Given the description of an element on the screen output the (x, y) to click on. 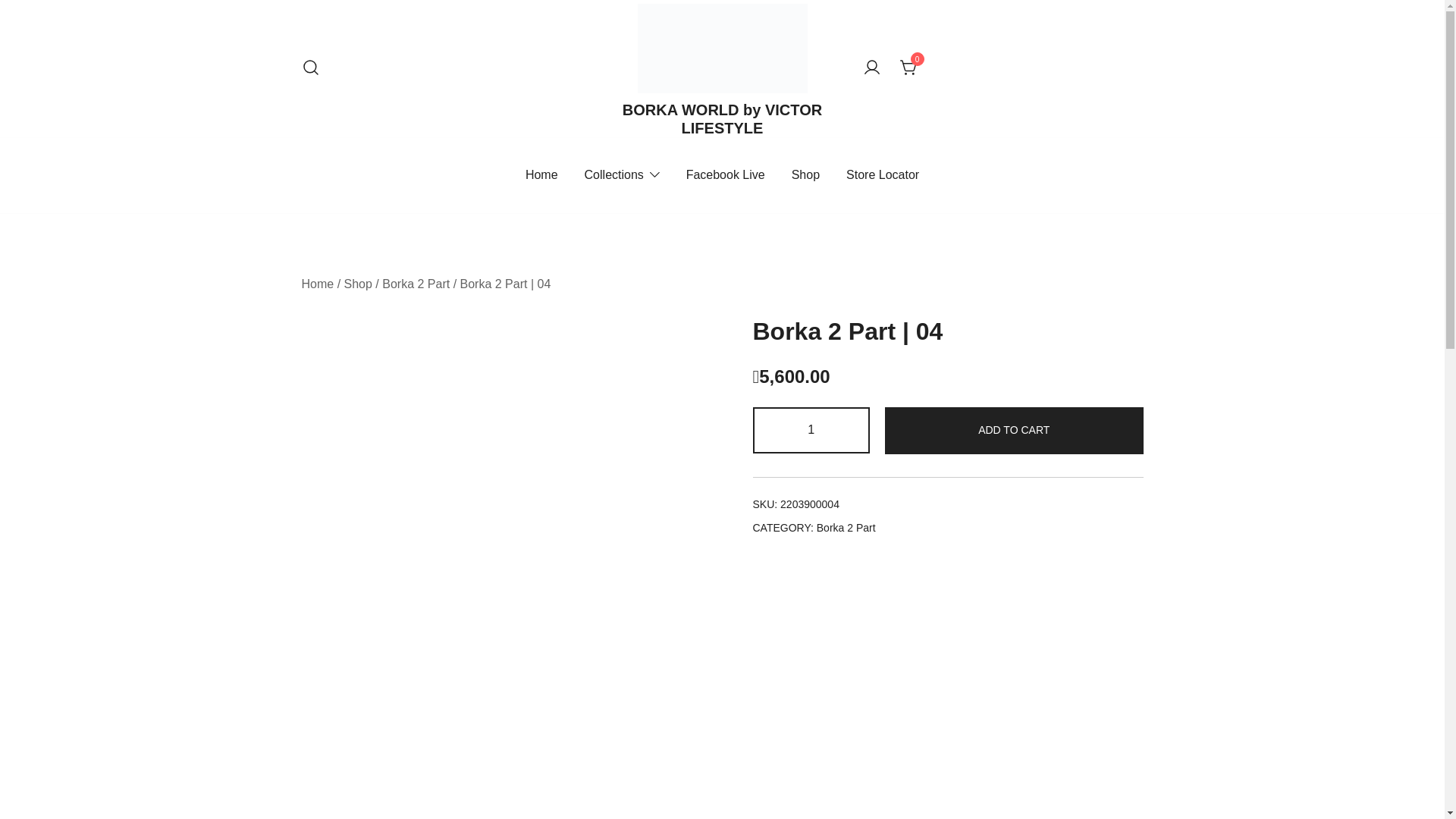
Collections Element type: text (613, 175)
Store Locator Element type: text (882, 175)
ADD TO CART Element type: text (1013, 430)
Shop Element type: text (358, 283)
Borka 2 Part Element type: text (415, 283)
Facebook Live Element type: text (725, 175)
Borka 2 Part Element type: text (845, 527)
0 Element type: text (908, 67)
Home Element type: text (541, 175)
BORKA WORLD by VICTOR LIFESTYLE Element type: text (722, 118)
Search for a product Element type: hover (310, 68)
Your account Element type: hover (871, 68)
Shop Element type: text (805, 175)
Home Element type: text (317, 283)
